Given the description of an element on the screen output the (x, y) to click on. 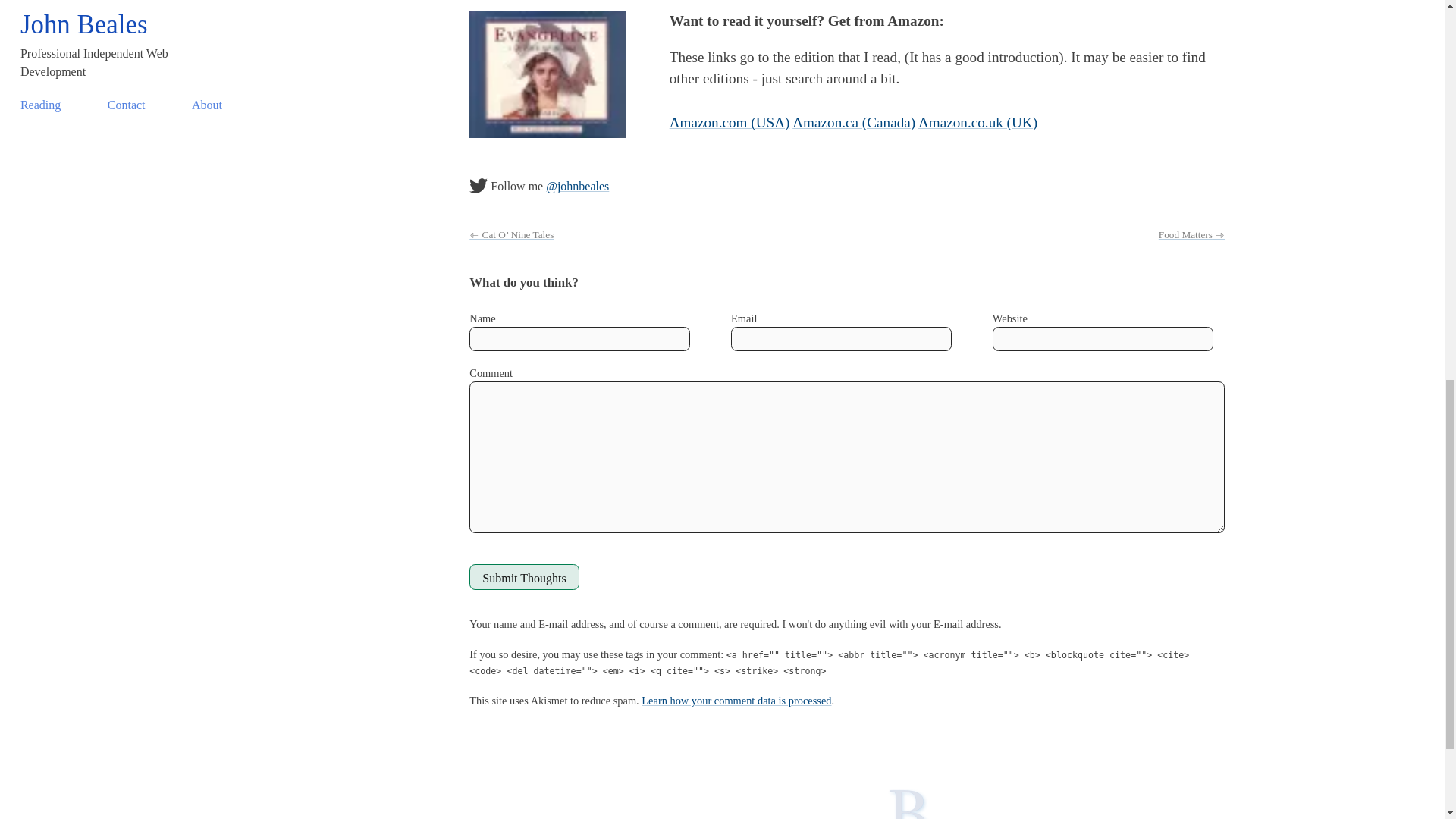
Learn how your comment data is processed (736, 700)
Made by John (901, 803)
Submit Thoughts (523, 576)
Food Matters (1191, 234)
Submit Thoughts (523, 576)
